Given the description of an element on the screen output the (x, y) to click on. 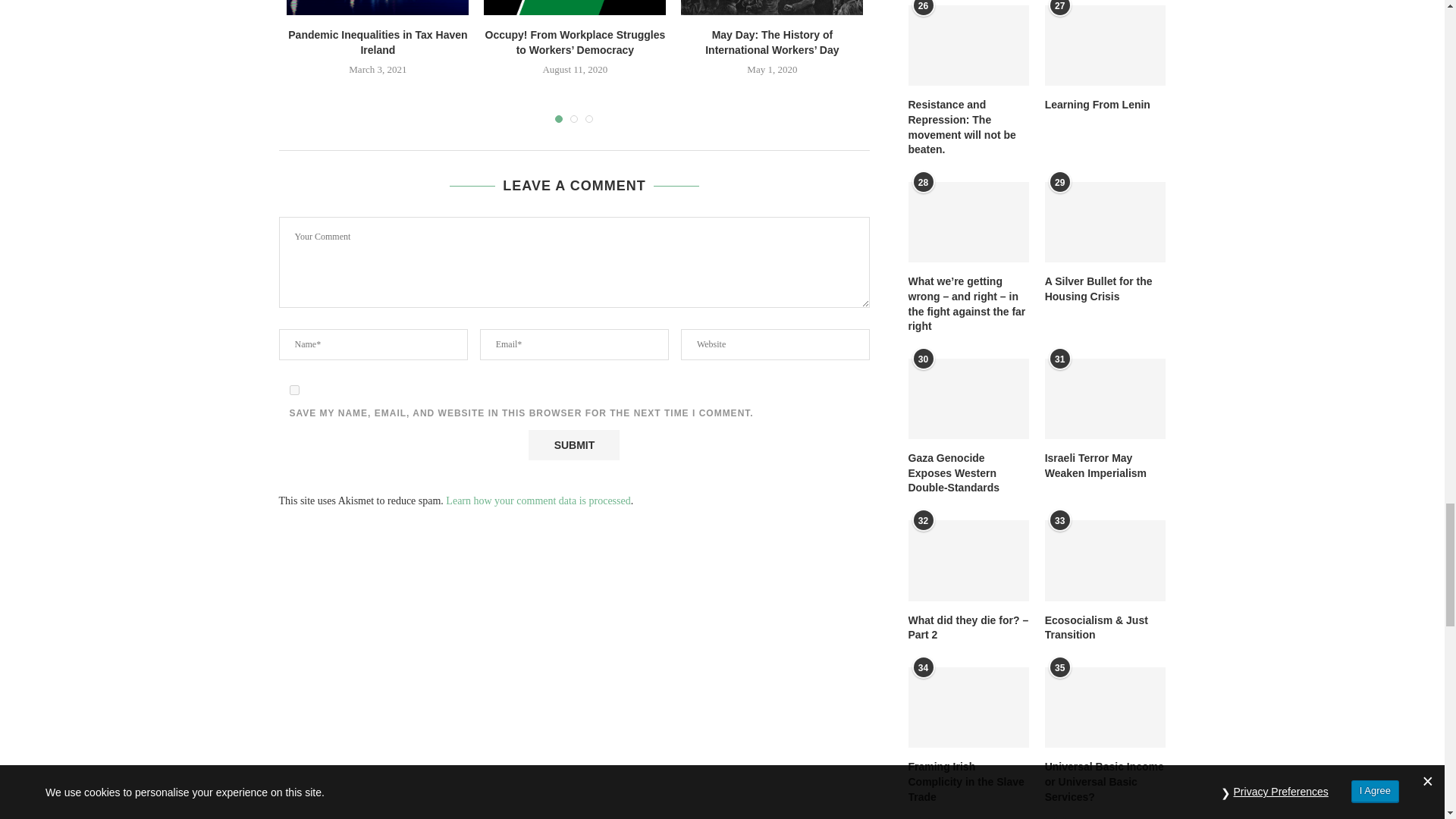
Submit (574, 444)
yes (294, 389)
Pandemic Inequalities in Tax Haven Ireland (377, 7)
